Given the description of an element on the screen output the (x, y) to click on. 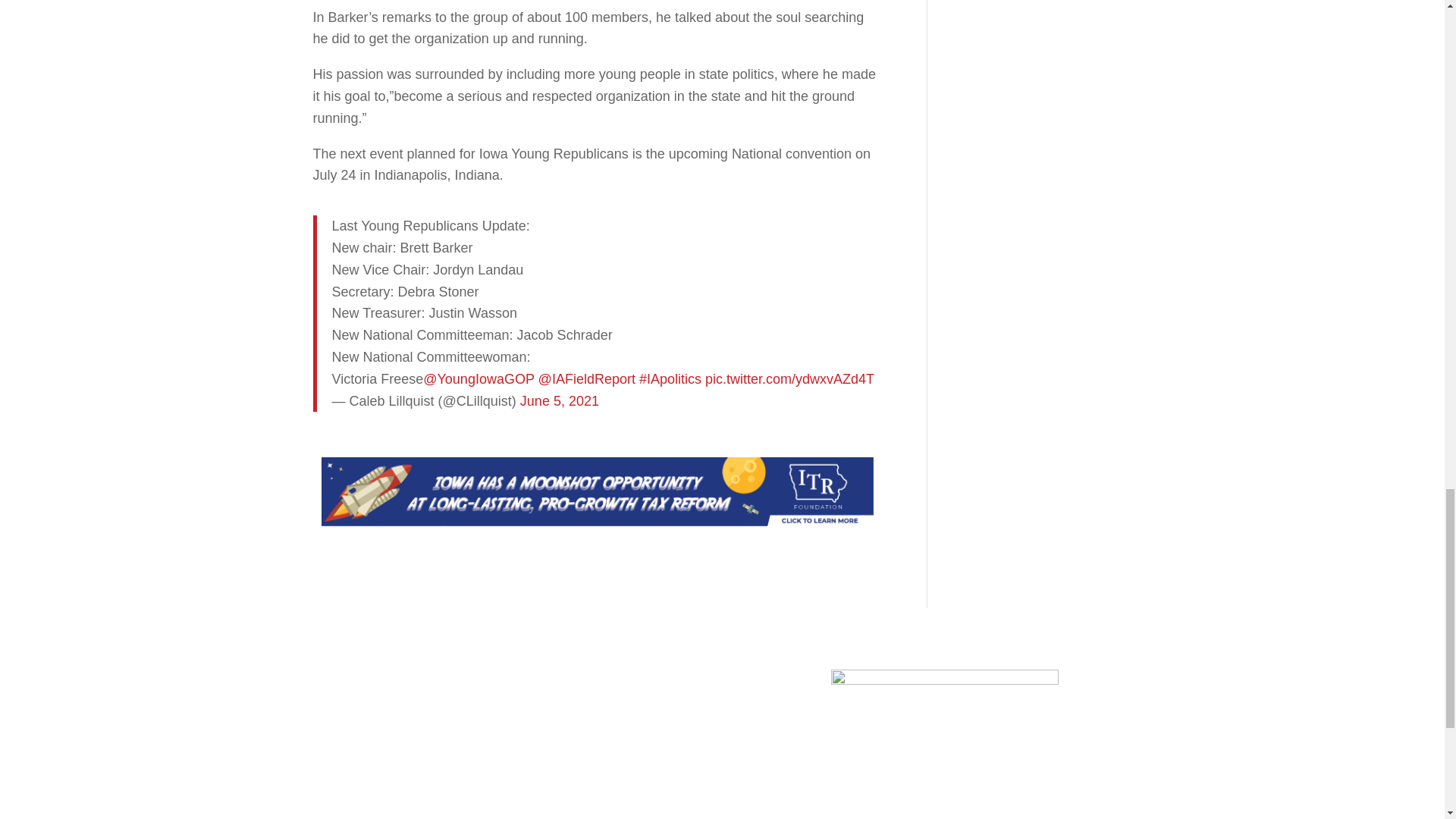
June 5, 2021 (558, 400)
Follow on X (354, 740)
Follow on Facebook (324, 740)
